Given the description of an element on the screen output the (x, y) to click on. 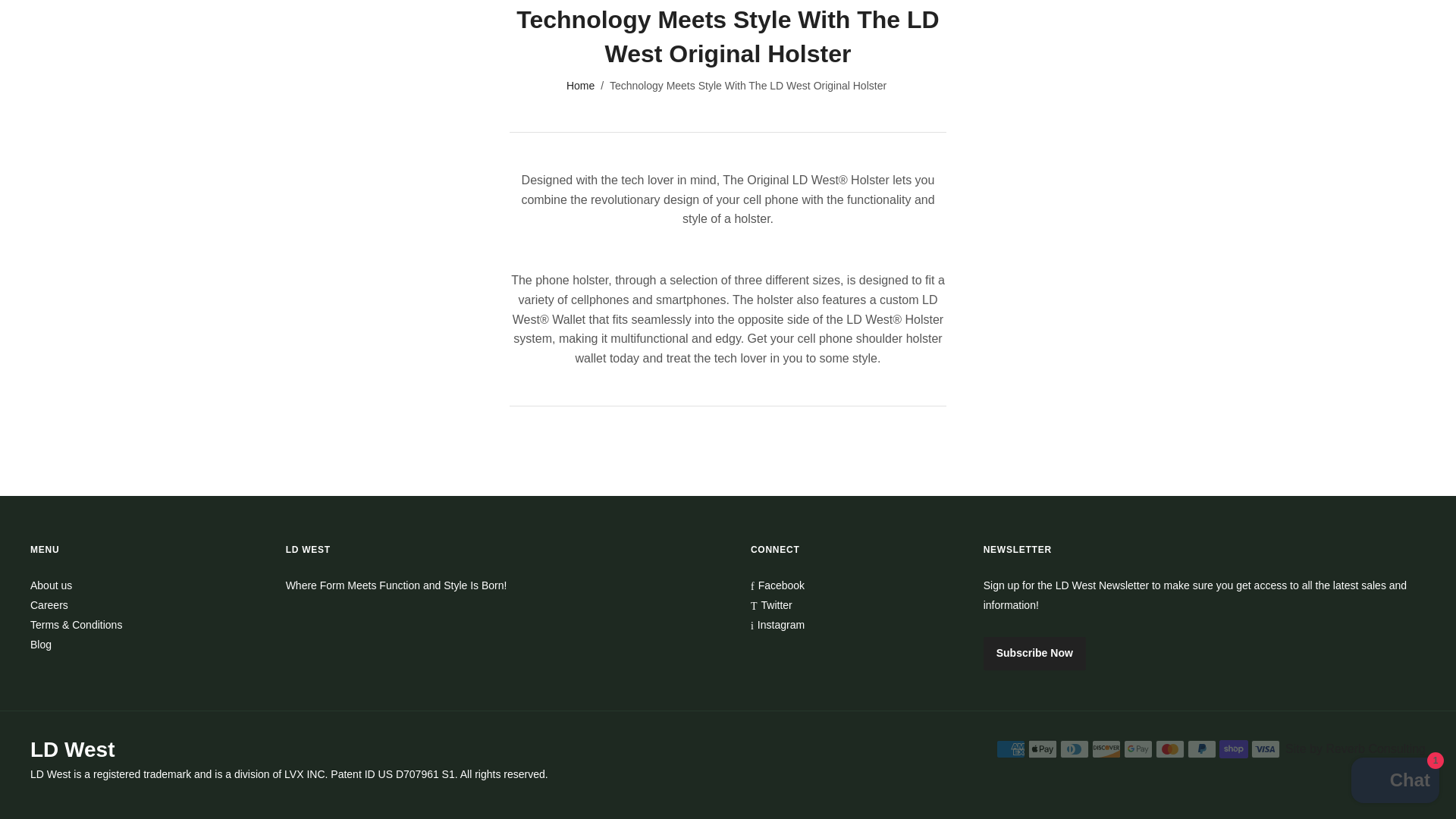
Back to the frontpage (580, 85)
Shopify online store chat (1395, 680)
